Given the description of an element on the screen output the (x, y) to click on. 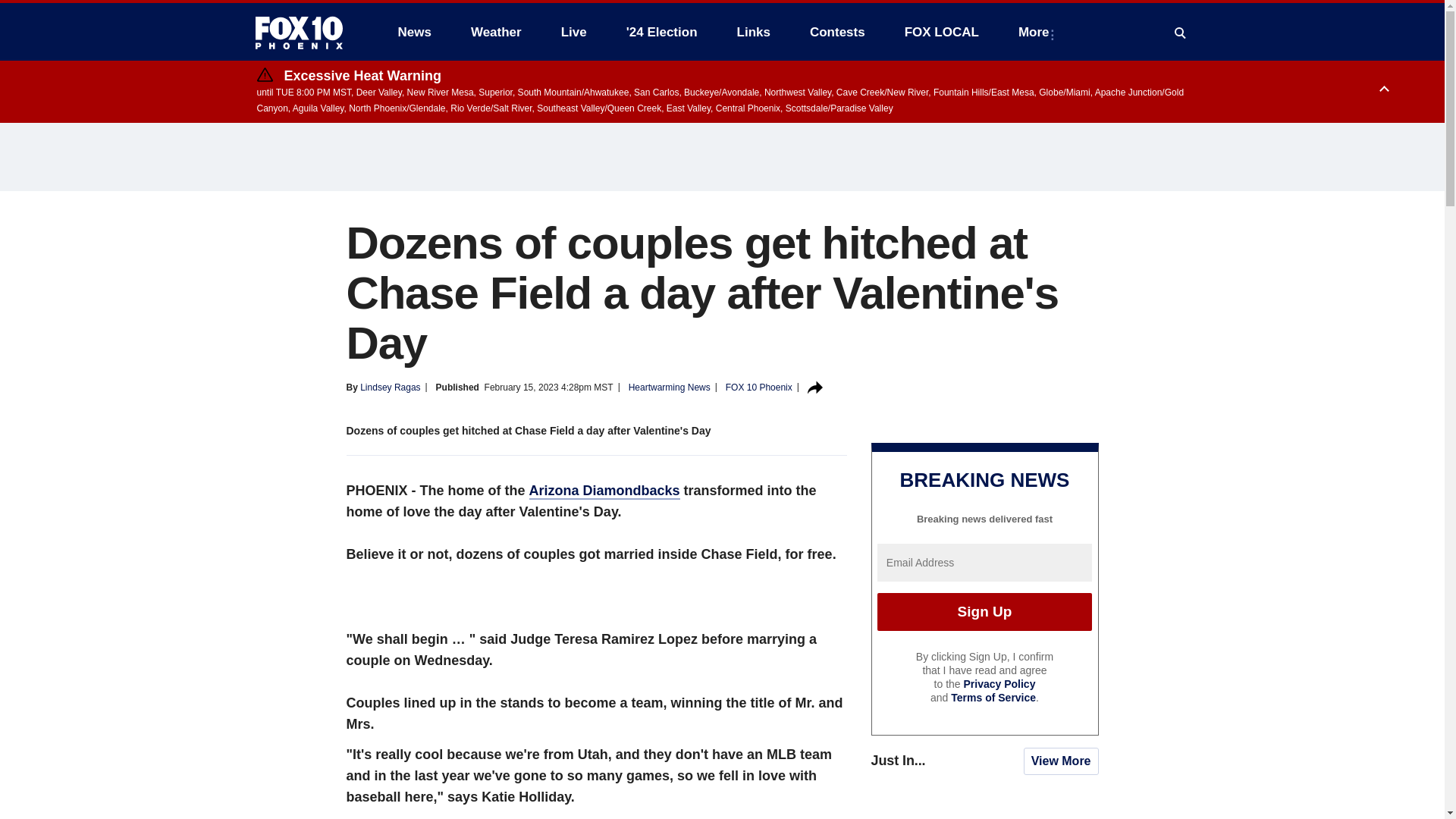
More (1036, 32)
Weather (496, 32)
Live (573, 32)
Contests (837, 32)
FOX LOCAL (941, 32)
Sign Up (984, 611)
'24 Election (662, 32)
News (413, 32)
Links (754, 32)
